Given the description of an element on the screen output the (x, y) to click on. 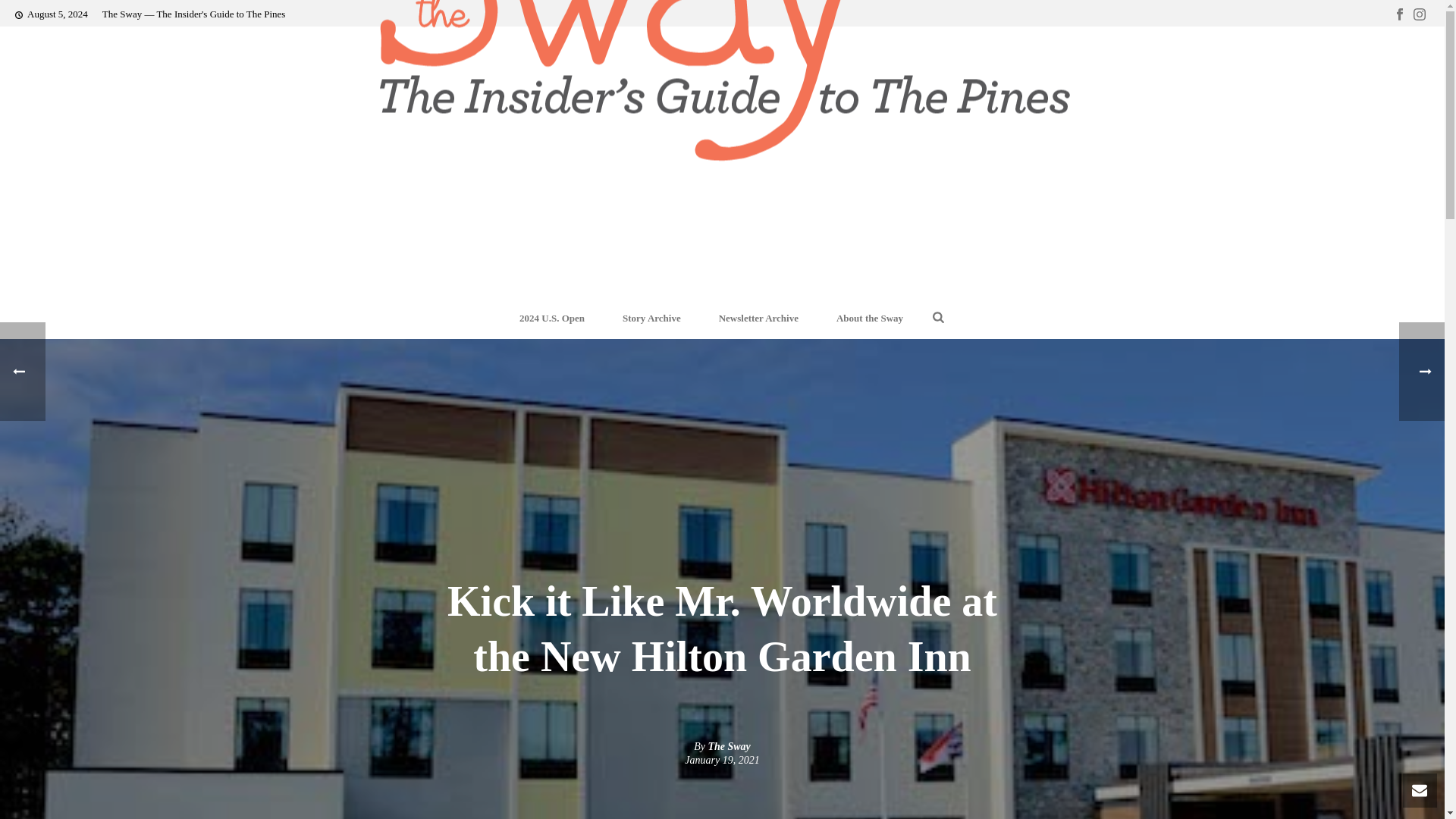
Newsletter Archive (758, 318)
About the Sway (868, 318)
The Insider's Guide to The Pines (721, 80)
January 19, 2021 (721, 759)
Story Archive (652, 318)
Newsletter Archive (758, 318)
The Sway (728, 746)
About the Sway (868, 318)
2024 U.S. Open (552, 318)
